Given the description of an element on the screen output the (x, y) to click on. 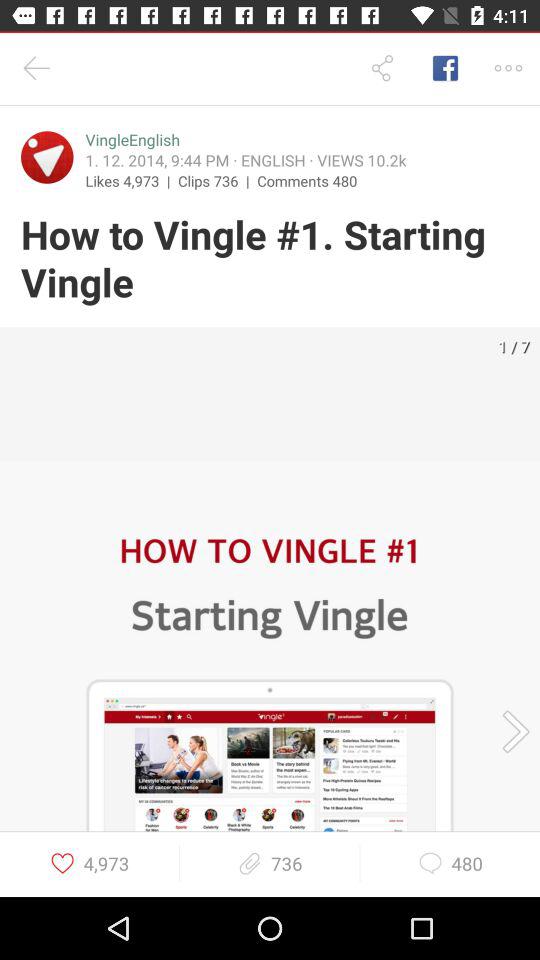
view profile (47, 157)
